Given the description of an element on the screen output the (x, y) to click on. 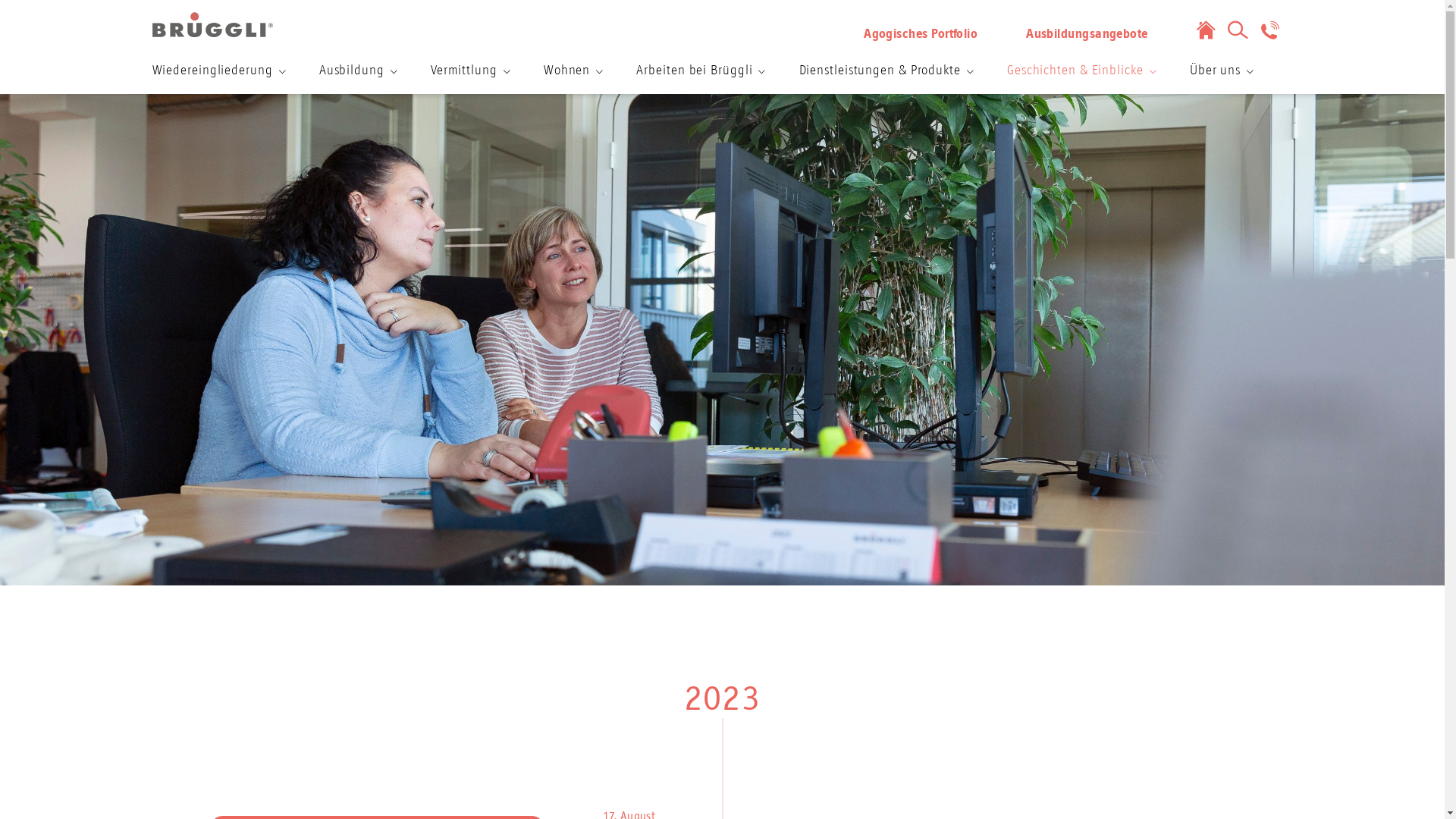
Geschichten & Einblicke Element type: text (1081, 70)
Ausbildung Element type: text (358, 70)
Wohnen Element type: text (573, 70)
Agogisches Portfolio Element type: text (920, 34)
Ausbildungsangebote Element type: text (1087, 34)
Vermittlung Element type: text (470, 70)
Dienstleistungen & Produkte Element type: text (886, 70)
Wiedereingliederung Element type: text (218, 70)
